Given the description of an element on the screen output the (x, y) to click on. 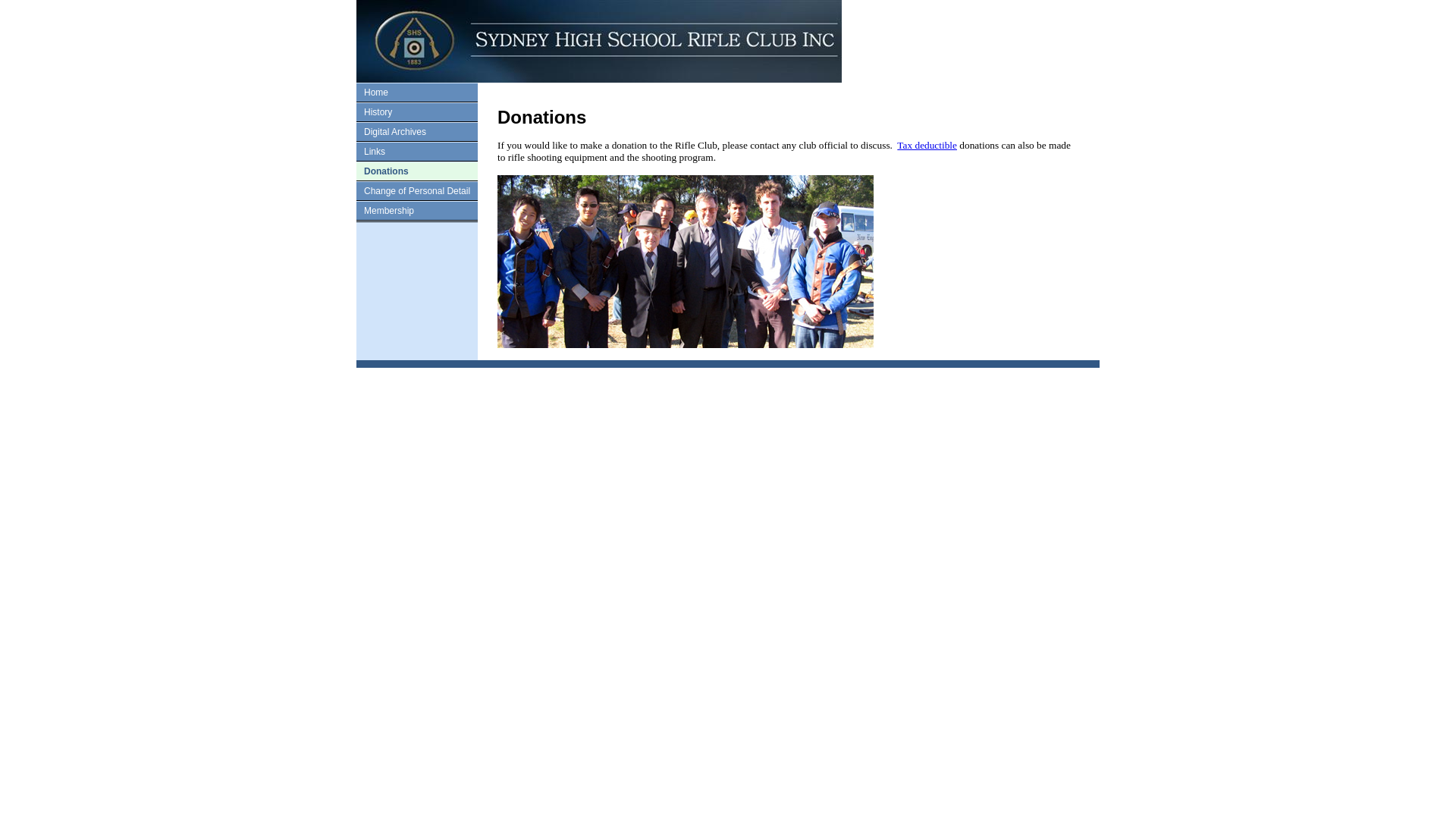
Change of Personal Detail Element type: text (417, 190)
Tax deductible Element type: text (927, 144)
Links Element type: text (374, 151)
Home Element type: text (376, 92)
Membership Element type: text (389, 210)
History Element type: text (378, 111)
Donations Element type: text (386, 171)
Digital Archives Element type: text (395, 131)
